Given the description of an element on the screen output the (x, y) to click on. 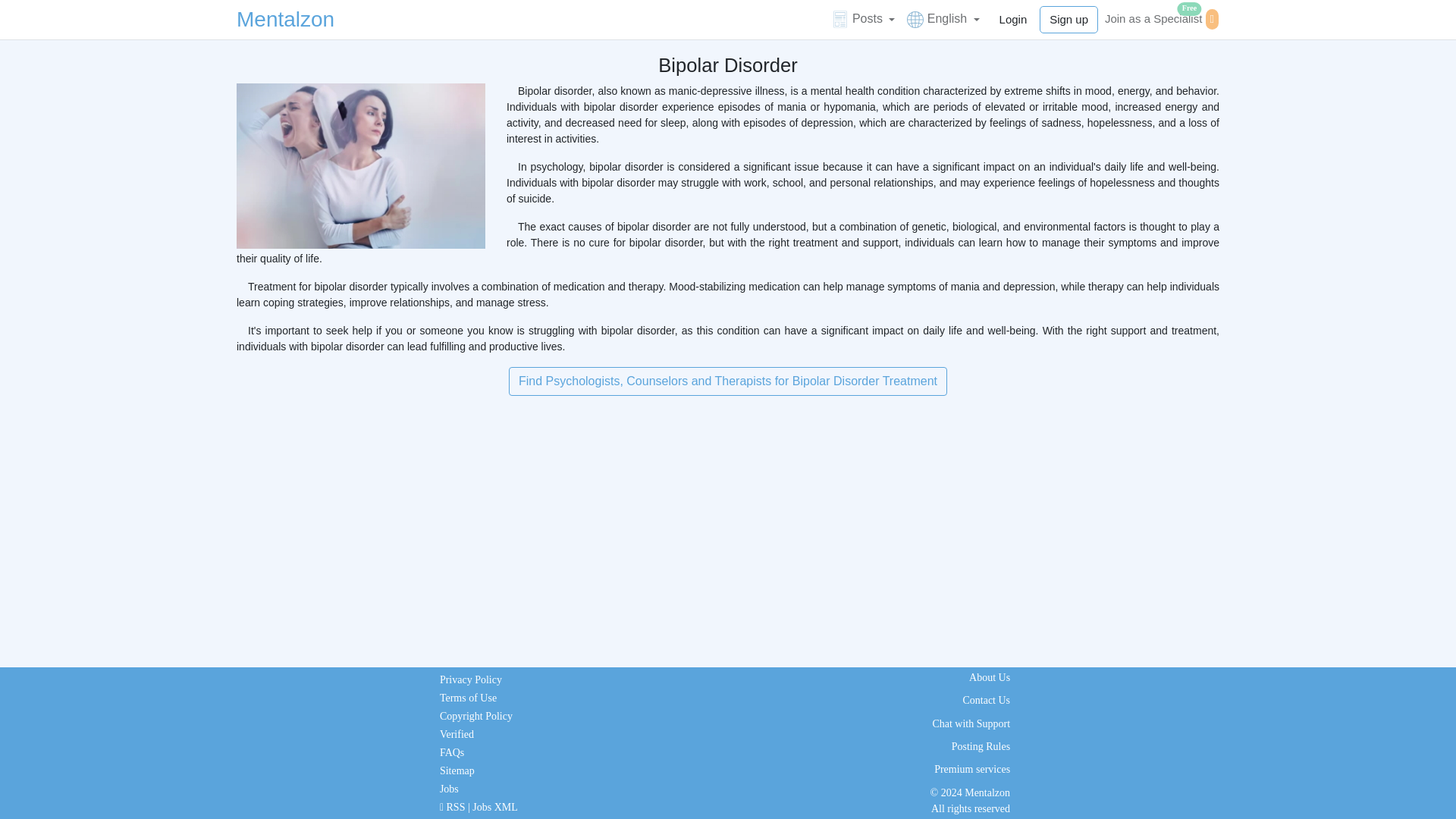
Mentalzon (284, 20)
Posts (863, 19)
Bipolar Disorder (359, 165)
English (942, 19)
Sign up (1068, 19)
Login (1013, 19)
Mentalzon (1160, 19)
Add specialist profile online (284, 20)
